Given the description of an element on the screen output the (x, y) to click on. 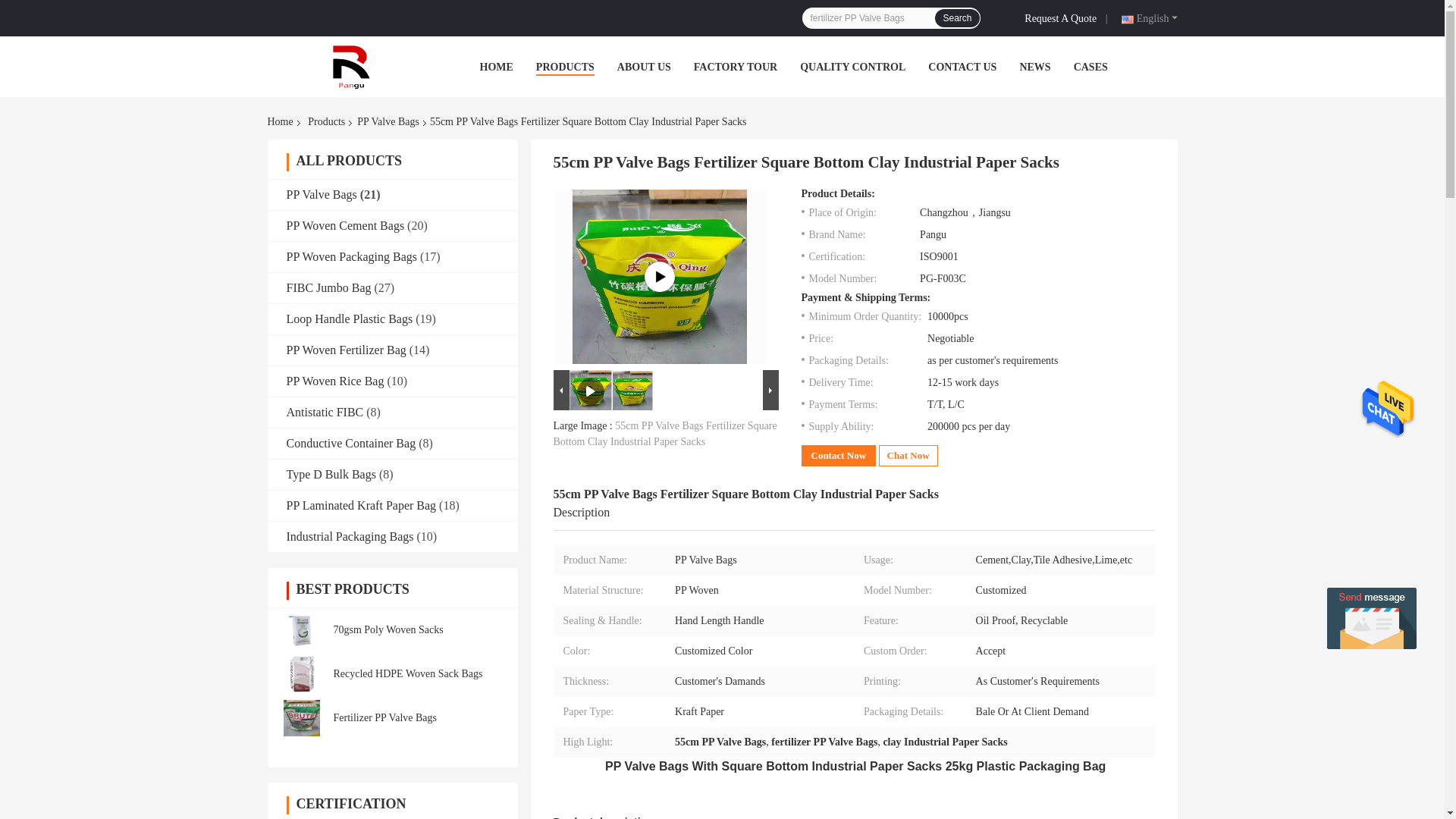
HOME (495, 66)
NEWS (1034, 66)
Products (325, 121)
Home (282, 121)
PP Woven Packaging Bags (351, 256)
Search (956, 18)
PP Woven Fertilizer Bag (346, 349)
PP Woven Cement Bags (345, 225)
Loop Handle Plastic Bags (349, 318)
CASES (1091, 66)
